Given the description of an element on the screen output the (x, y) to click on. 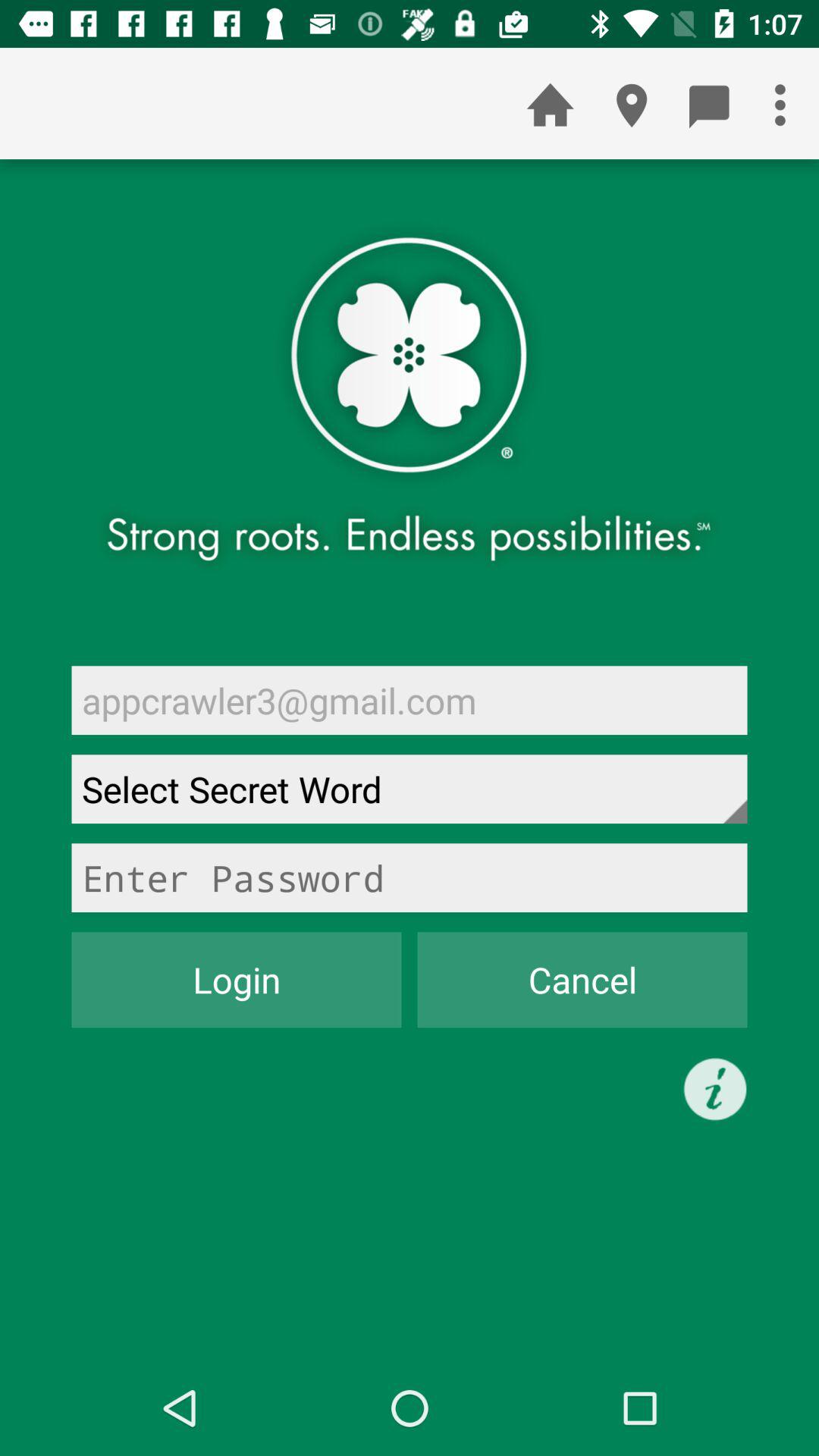
turn off item below the select secret word item (409, 877)
